Given the description of an element on the screen output the (x, y) to click on. 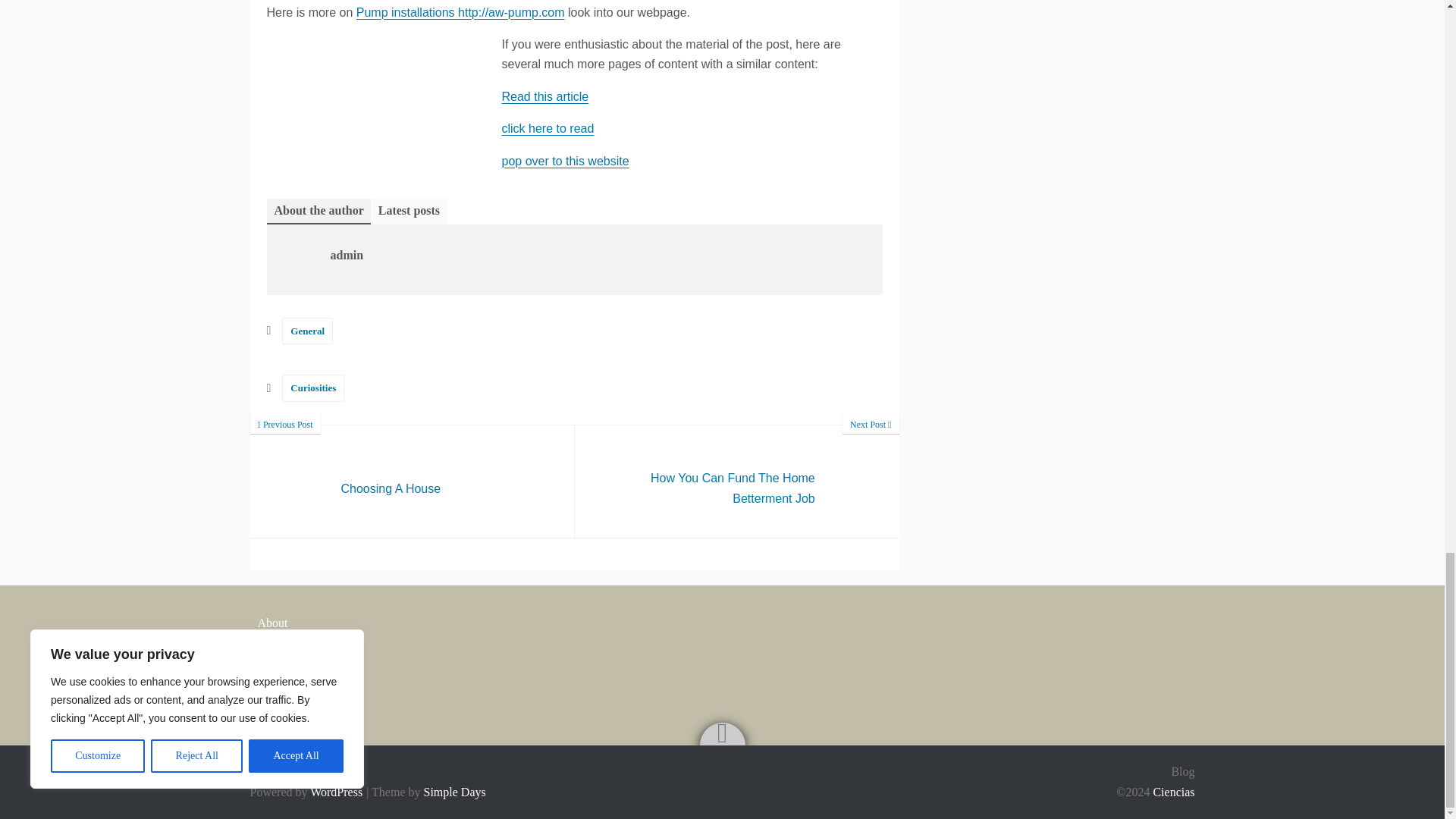
General (307, 330)
pop over to this website (565, 160)
Read this article (545, 96)
Choosing A House (412, 481)
click here to read (412, 481)
Curiosities (548, 128)
How You Can Fund The Home Betterment Job (737, 481)
